Given the description of an element on the screen output the (x, y) to click on. 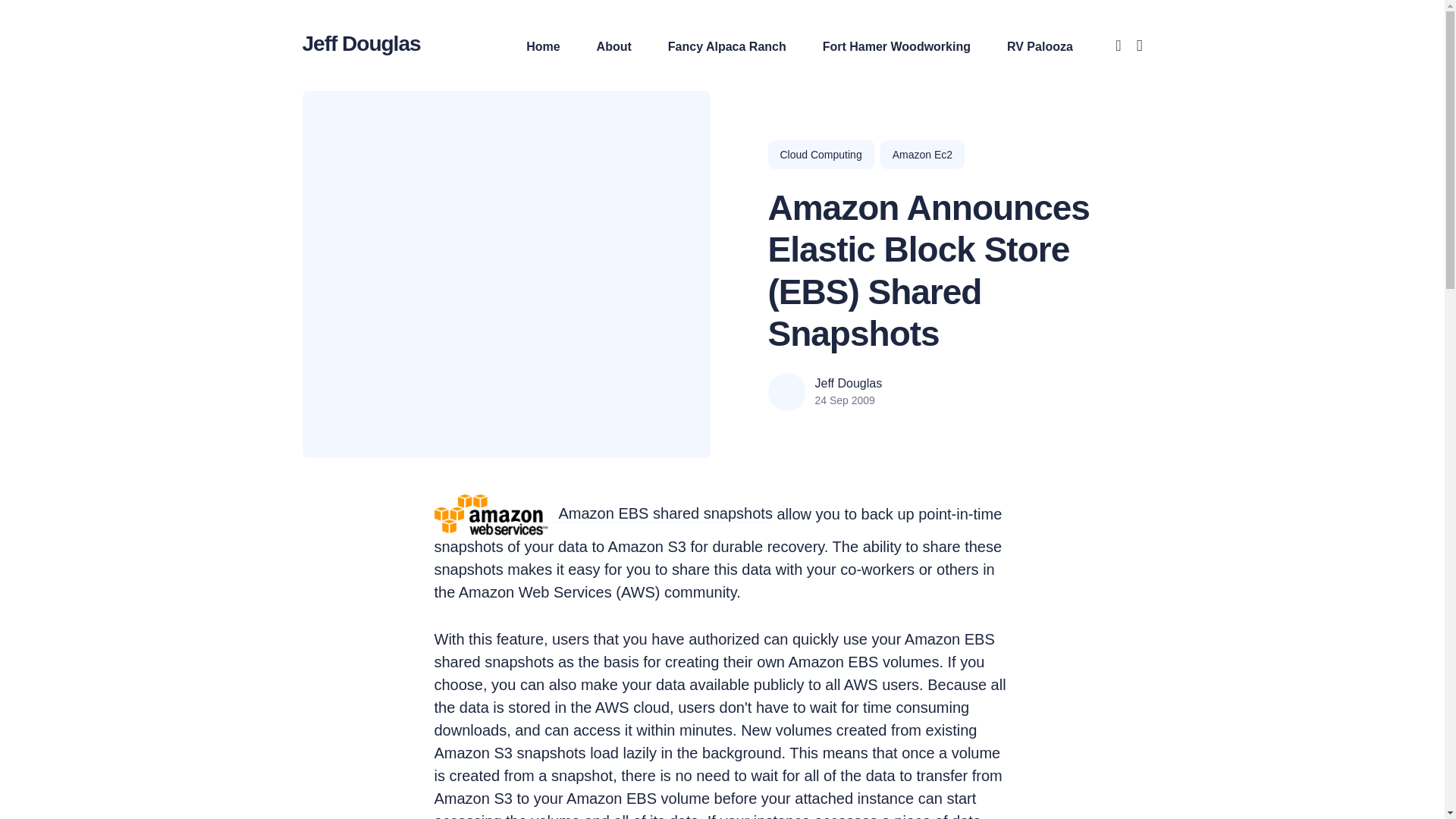
Amazon Ec2 (921, 154)
Home (542, 46)
Fancy Alpaca Ranch (727, 46)
Fort Hamer Woodworking (896, 46)
Cloud Computing (820, 154)
Jeff Douglas (360, 43)
About (613, 46)
RV Palooza (1040, 46)
Jeff Douglas (847, 383)
Amazon EBS shared snapshots (664, 513)
